Given the description of an element on the screen output the (x, y) to click on. 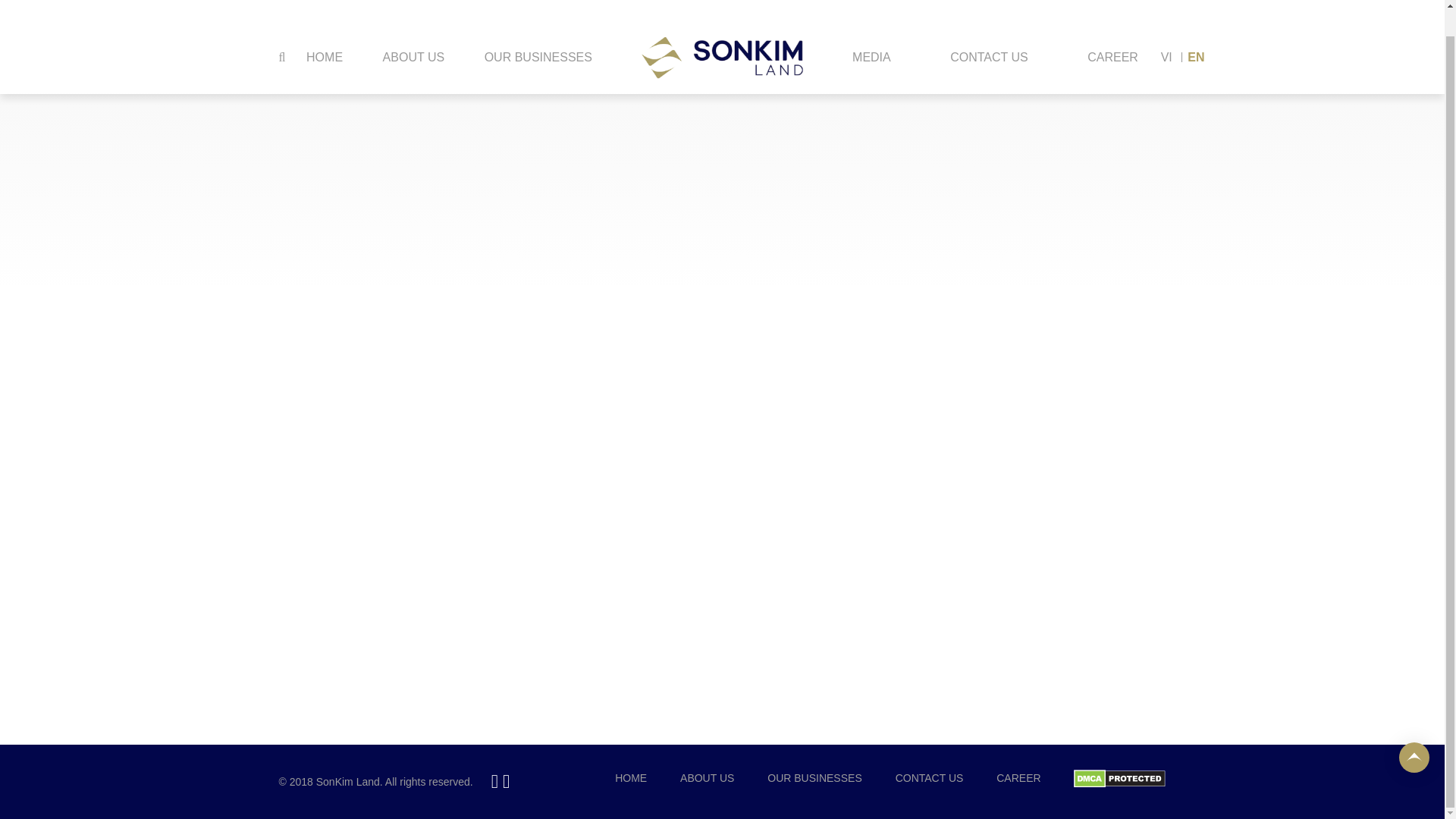
ABOUT US (413, 23)
MEDIA (871, 31)
OUR BUSINESSES (538, 25)
HOME (630, 777)
HOME (324, 31)
OUR BUSINESSES (538, 31)
OUR BUSINESSES (814, 777)
CAREER (1112, 31)
ABOUT US (706, 777)
CAREER (1018, 777)
